Given the description of an element on the screen output the (x, y) to click on. 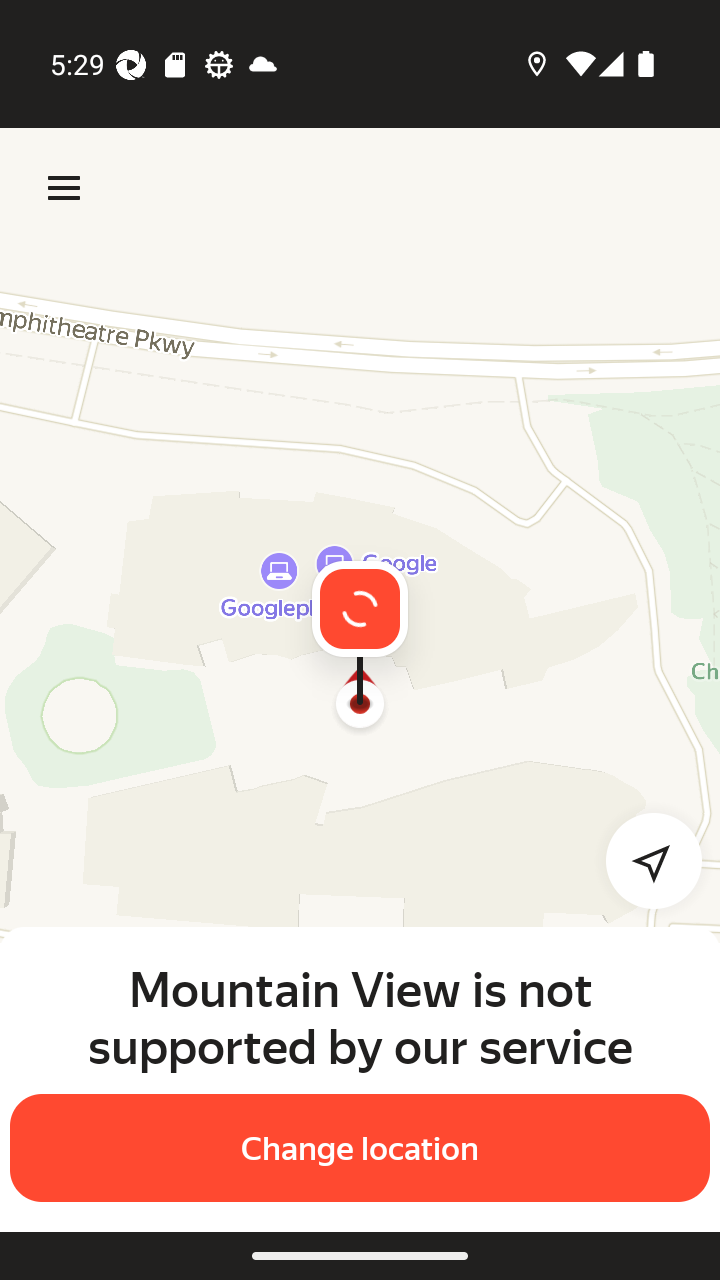
Menu Menu Menu (64, 188)
Detect my location (641, 860)
Mountain View is not supported by our service (360, 1017)
Change location (359, 1147)
